Given the description of an element on the screen output the (x, y) to click on. 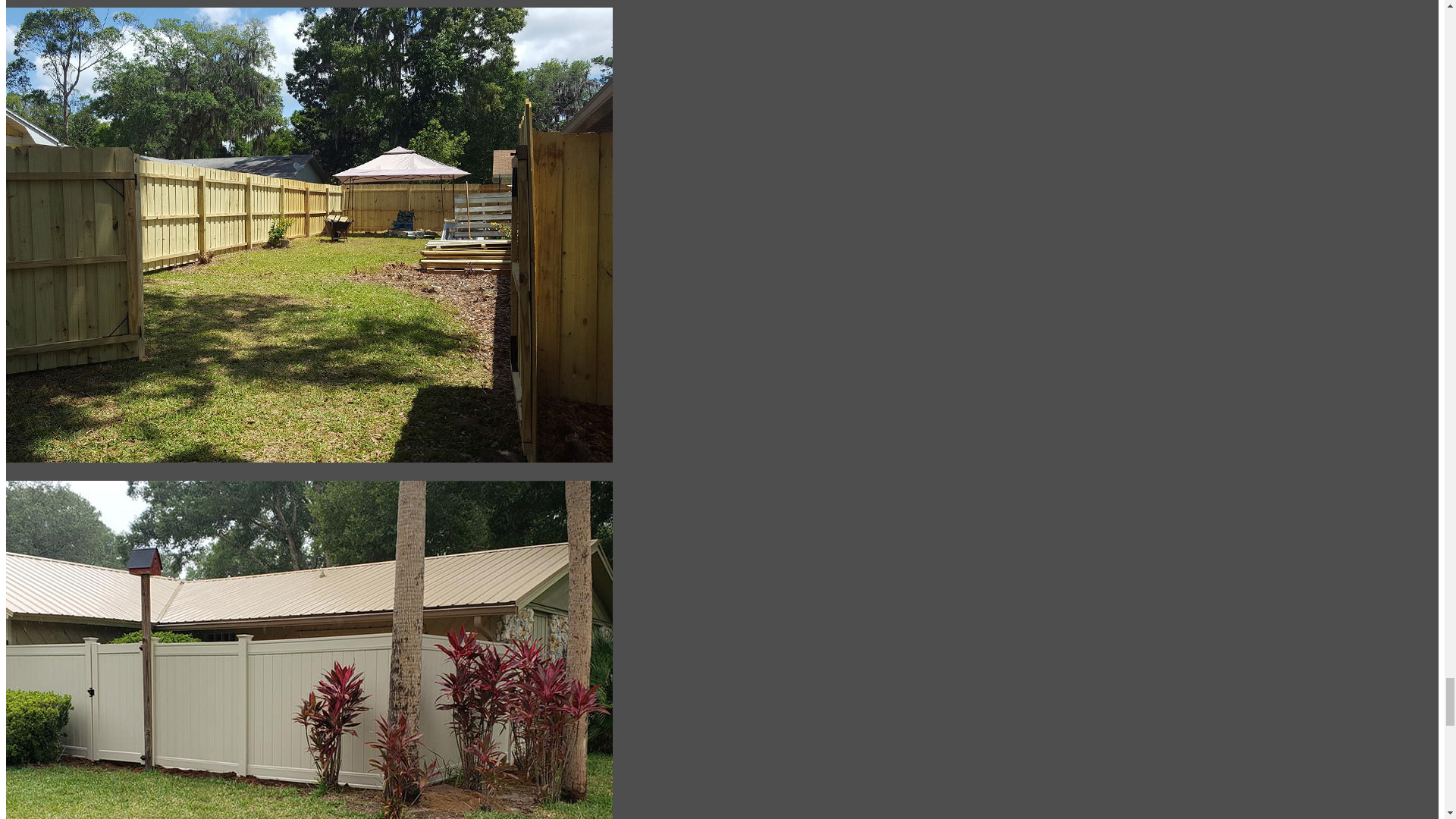
Weirsdale Florida Fence Project Photo (308, 472)
